Given the description of an element on the screen output the (x, y) to click on. 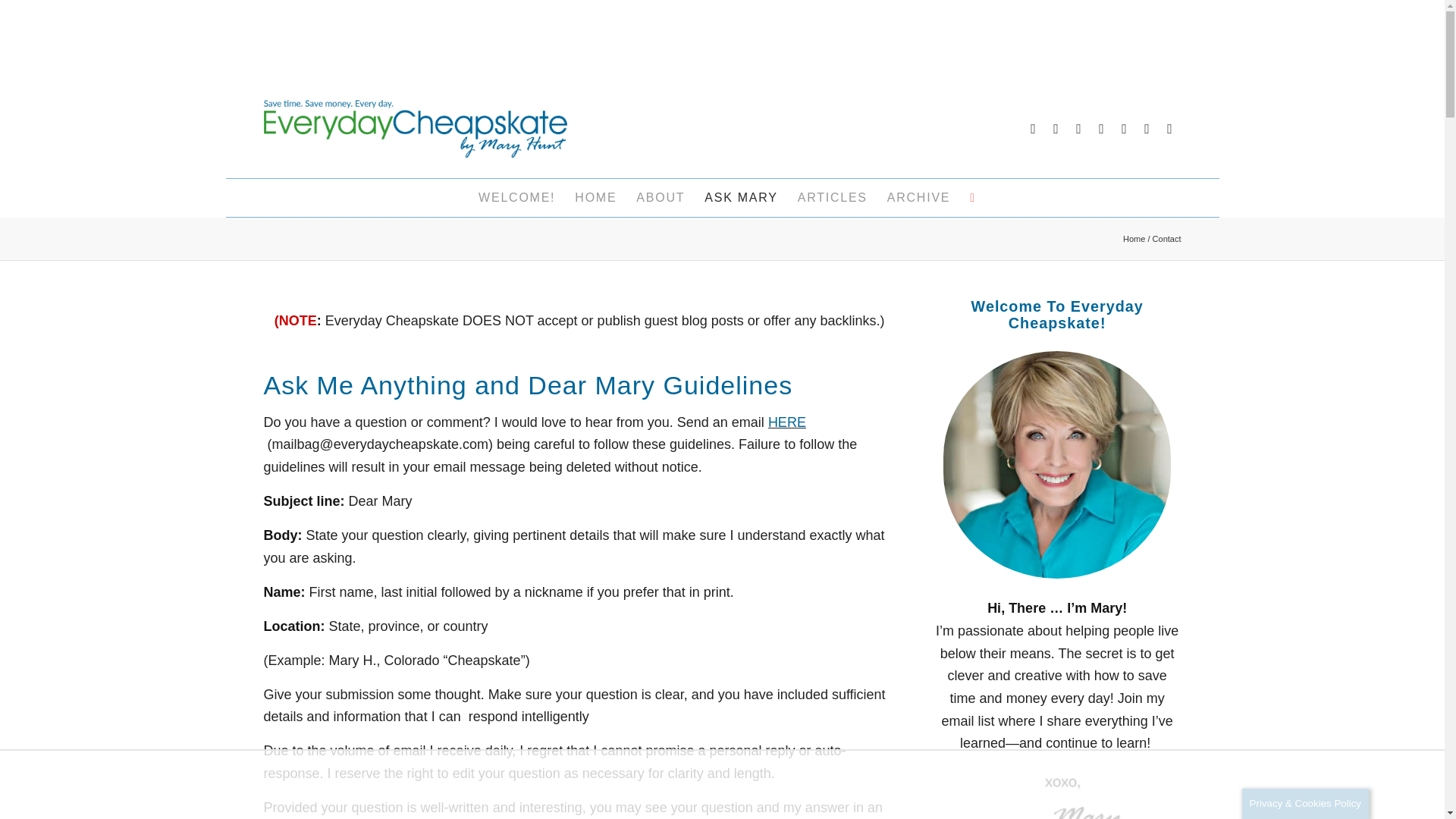
Facebook (1056, 128)
Twitter (1078, 128)
ASK MARY (740, 198)
EC-Logo-by-Mary-Hunt-Tagline-Trimmed (415, 128)
Pinterest (1033, 128)
Instagram (1101, 128)
HOME (595, 198)
ARTICLES (832, 198)
LinkedIn (1124, 128)
ABOUT (660, 198)
Youtube (1169, 128)
Rss (1146, 128)
WELCOME! (516, 198)
